Given the description of an element on the screen output the (x, y) to click on. 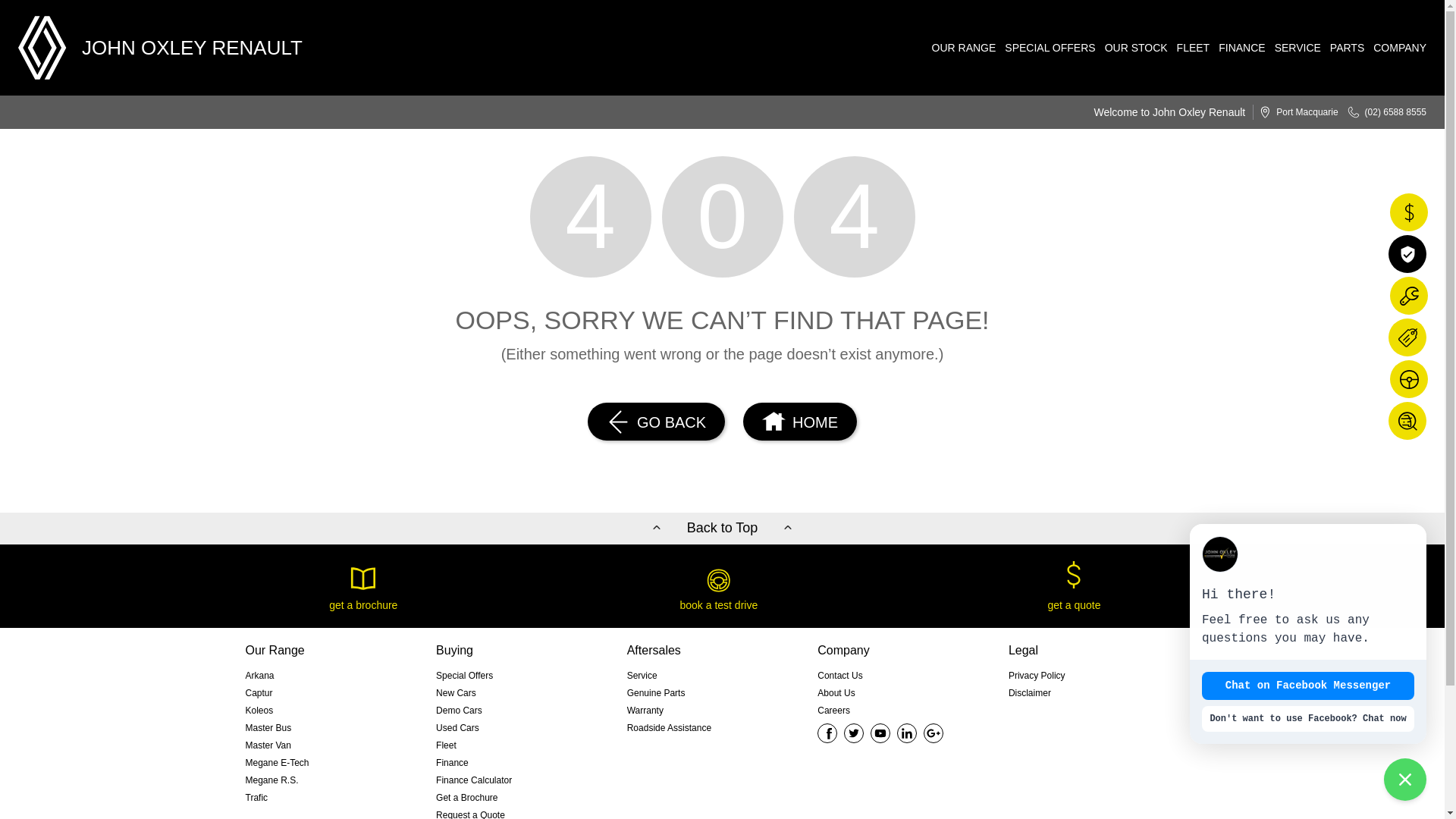
Disclaimer Element type: text (1029, 693)
Privacy Policy Element type: text (1036, 675)
OUR RANGE Element type: text (959, 47)
Captur Element type: text (259, 693)
Warranty Element type: text (645, 710)
Special Offers Element type: text (464, 675)
OUR STOCK Element type: text (1131, 47)
Megane R.S. Element type: text (271, 780)
Used Cars Element type: text (457, 728)
Koleos Element type: text (259, 710)
get a quote Element type: text (1074, 585)
About Us Element type: text (835, 693)
Roadside Assistance Element type: text (669, 728)
Megane E-Tech Element type: text (277, 762)
New Cars Element type: text (456, 693)
Service Element type: text (642, 675)
Follow us on LinkedIn Element type: hover (906, 733)
Visit us on Twitter Element type: hover (853, 733)
Finance Calculator Element type: text (473, 780)
Follow our channel on YouTube Element type: hover (880, 733)
COMPANY Element type: text (1395, 47)
FLEET Element type: text (1188, 47)
SPECIAL OFFERS Element type: text (1045, 47)
SERVICE Element type: text (1293, 47)
Follow us on Facebook Element type: hover (827, 733)
Customer service chat Element type: hover (1307, 633)
Finance Element type: text (452, 762)
get a brochure Element type: text (363, 585)
(02) 6588 8555 Element type: text (1382, 111)
Genuine Parts Element type: text (656, 693)
Trafic Element type: text (256, 797)
HOME Element type: text (799, 421)
GO BACK Element type: text (655, 421)
Contact Us Element type: text (839, 675)
Master Van Element type: text (268, 745)
JOHN OXLEY RENAULT Element type: text (160, 47)
Fleet Element type: text (446, 745)
Arkana Element type: text (259, 675)
FINANCE Element type: text (1236, 47)
Demo Cars Element type: text (459, 710)
book a test drive Element type: text (718, 585)
Get a Brochure Element type: text (466, 797)
Port Macquarie Element type: text (1292, 111)
PARTS Element type: text (1342, 47)
Careers Element type: text (833, 710)
Master Bus Element type: text (268, 728)
Follow us on Google Plus Element type: hover (933, 733)
